Given the description of an element on the screen output the (x, y) to click on. 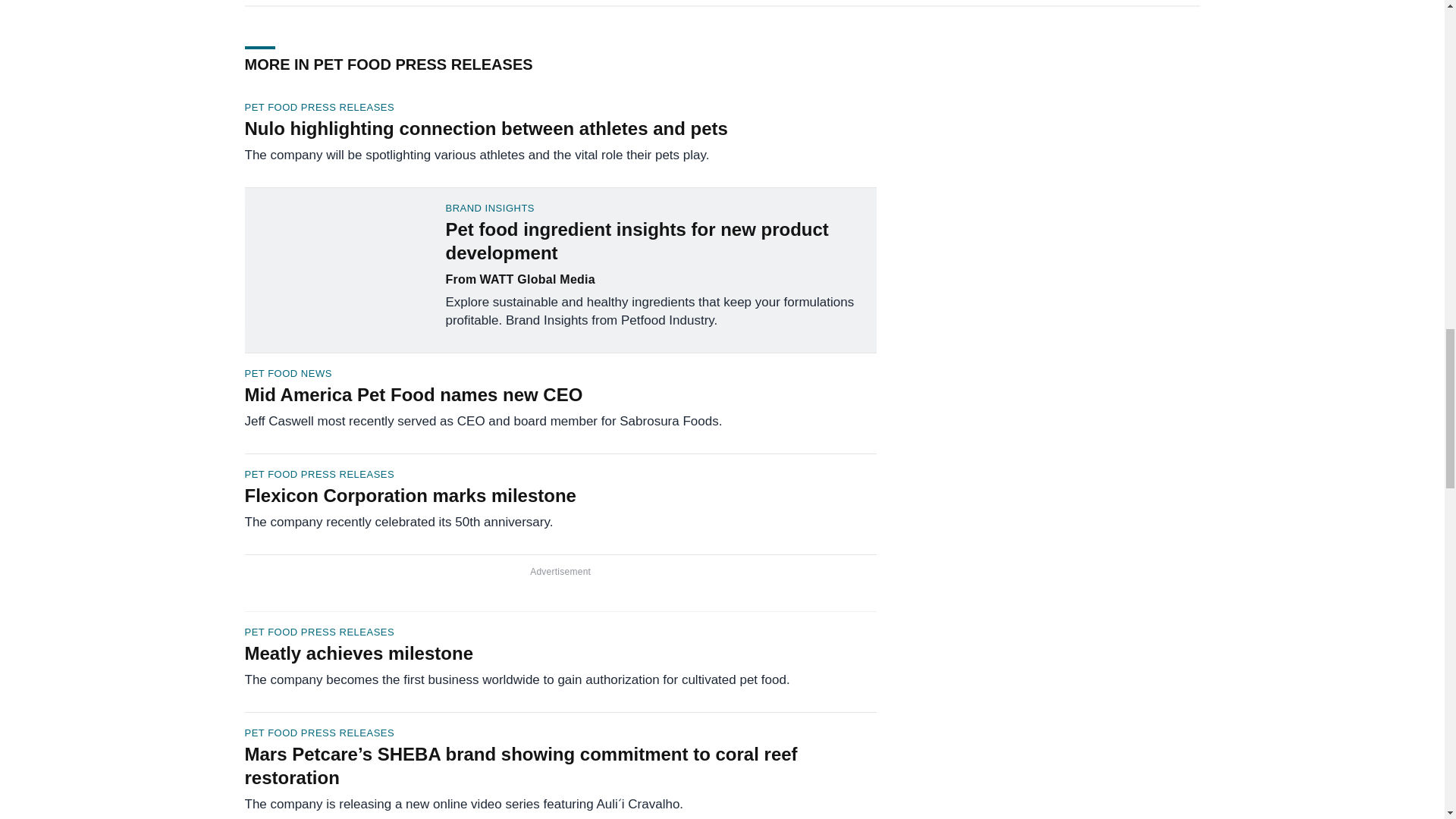
Brand Insights (660, 207)
